Given the description of an element on the screen output the (x, y) to click on. 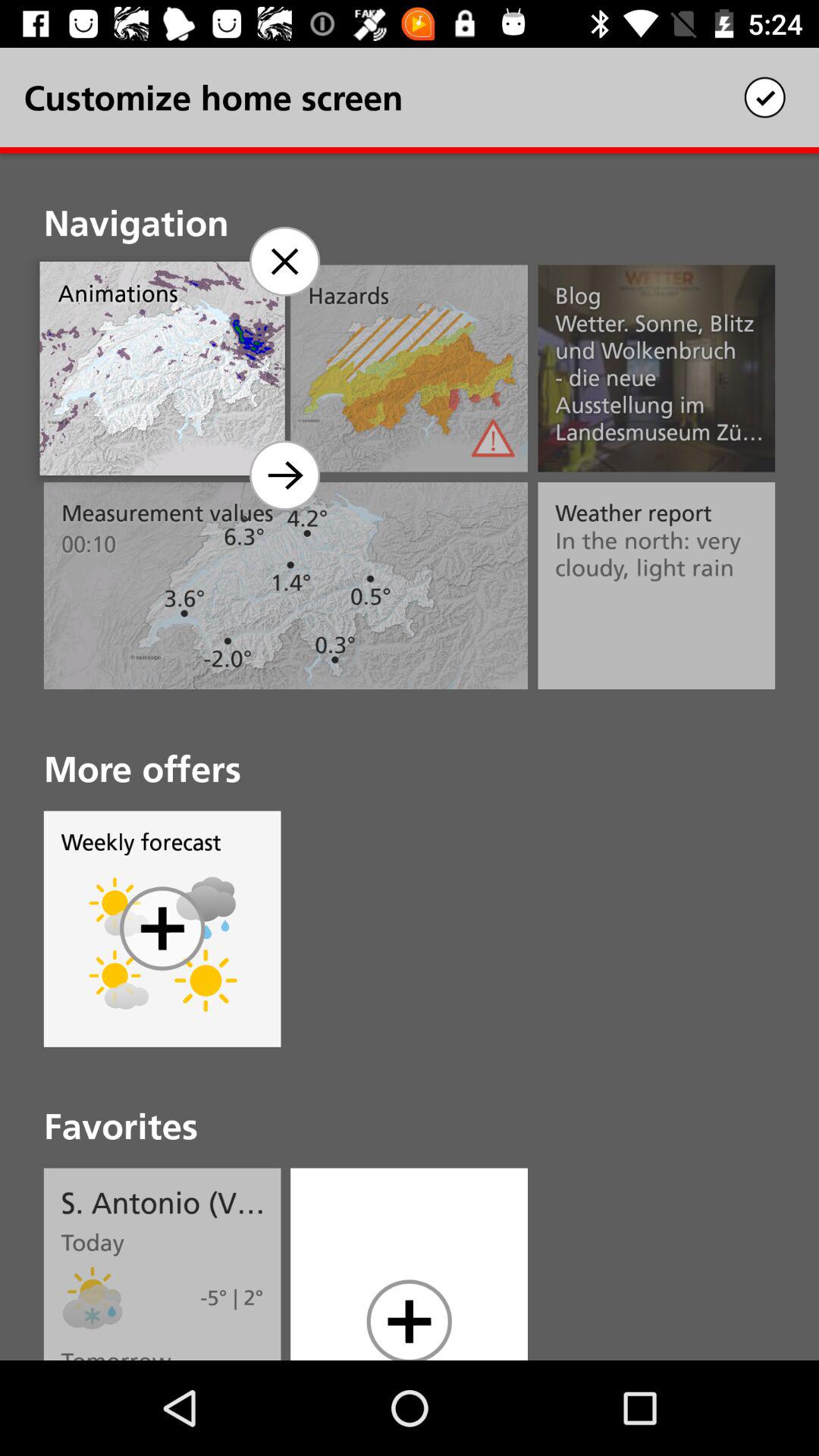
select home screen option (284, 475)
